Given the description of an element on the screen output the (x, y) to click on. 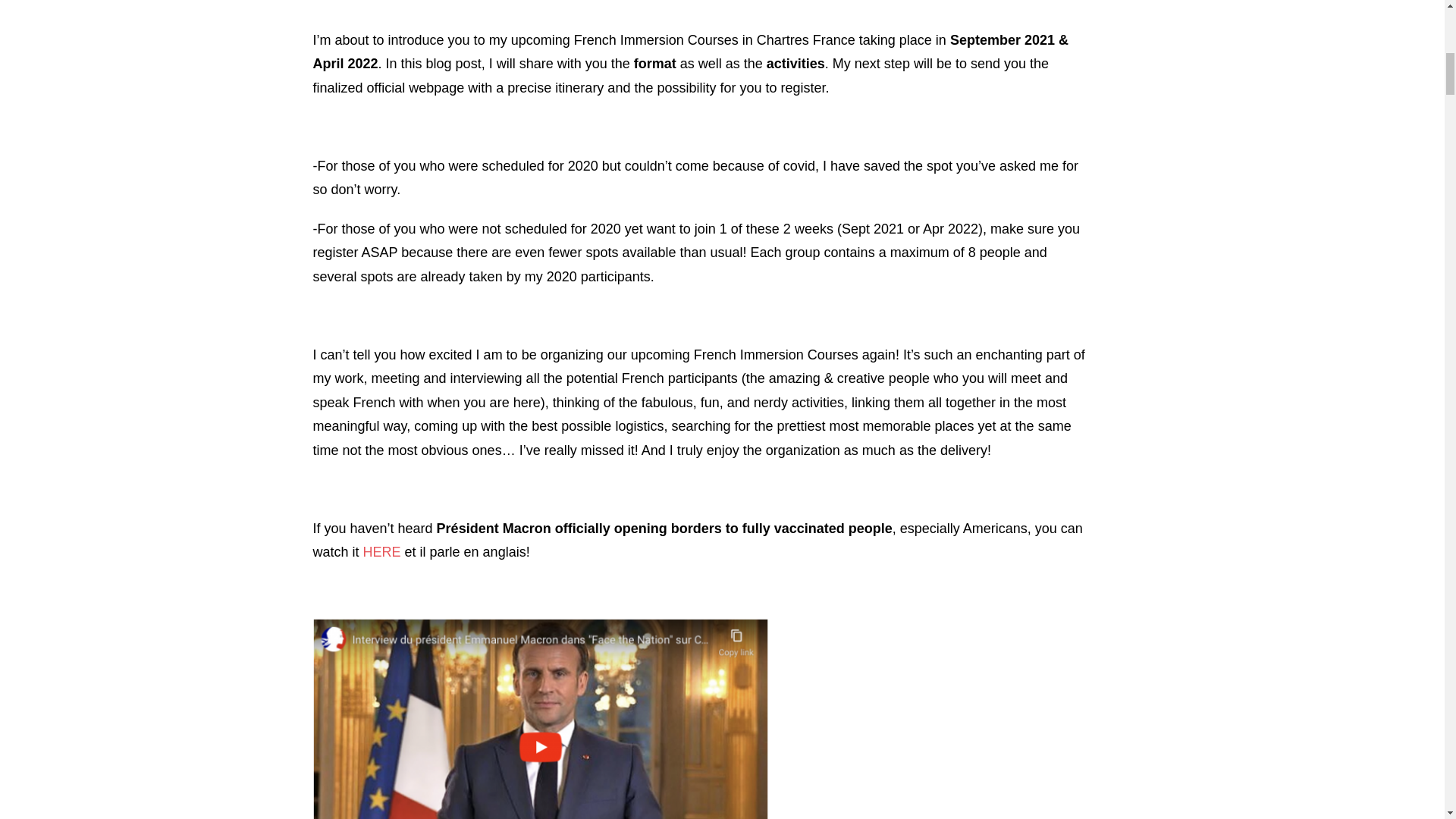
HERE (381, 551)
